Given the description of an element on the screen output the (x, y) to click on. 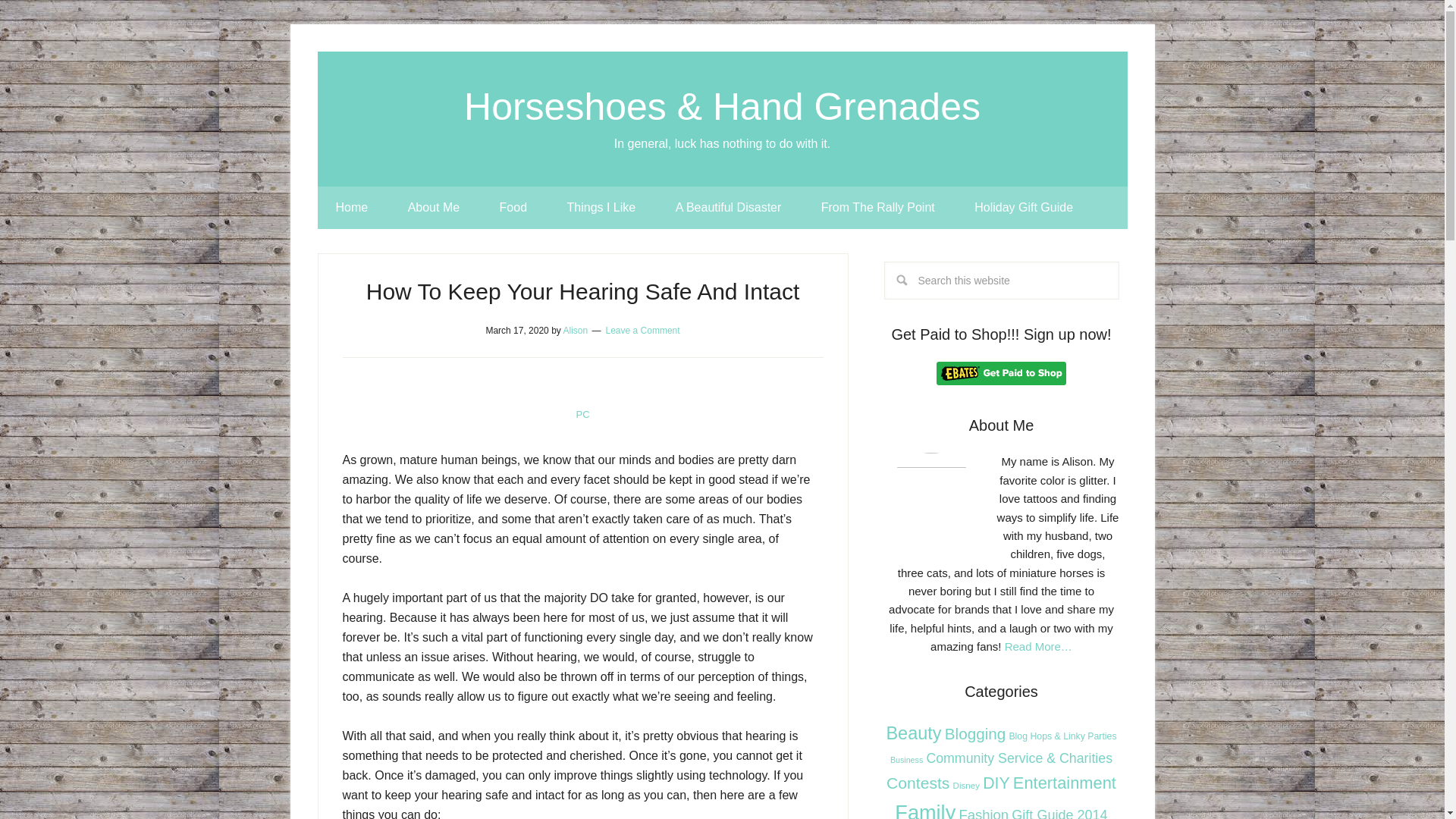
Family (925, 809)
Business (906, 759)
Beauty (912, 732)
Home (351, 207)
Entertainment (1064, 782)
Things I Like (600, 207)
Fashion (983, 812)
Blogging (975, 733)
Alison (575, 330)
Disney (966, 785)
From The Rally Point (878, 207)
Leave a Comment (642, 330)
Contests (917, 782)
